Given the description of an element on the screen output the (x, y) to click on. 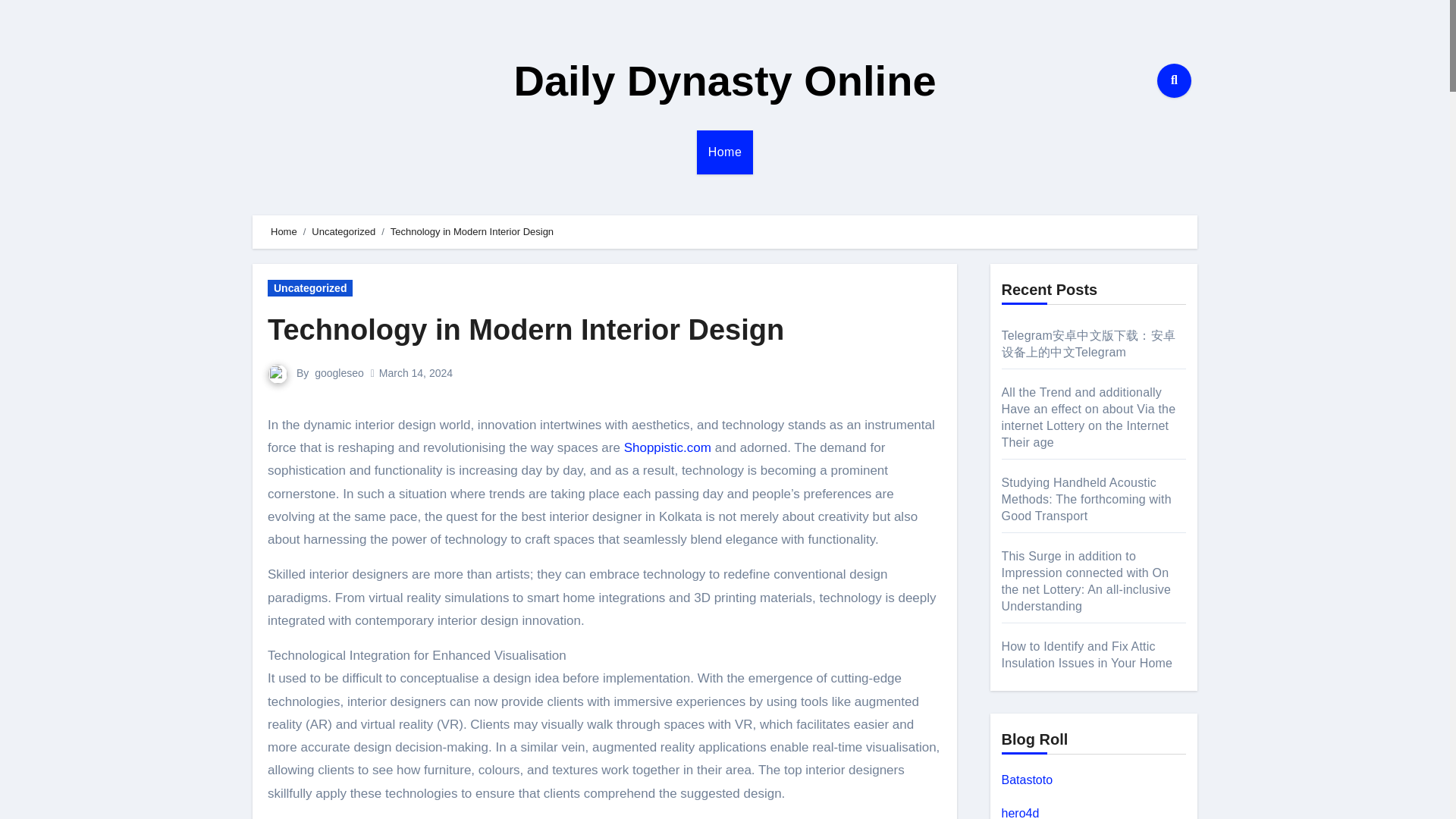
Home (283, 231)
Home (725, 152)
Uncategorized (343, 231)
Uncategorized (309, 288)
googleseo (339, 372)
Home (725, 152)
Daily Dynasty Online (724, 80)
Shoppistic.com (667, 447)
March 14, 2024 (415, 372)
Technology in Modern Interior Design (525, 329)
